Given the description of an element on the screen output the (x, y) to click on. 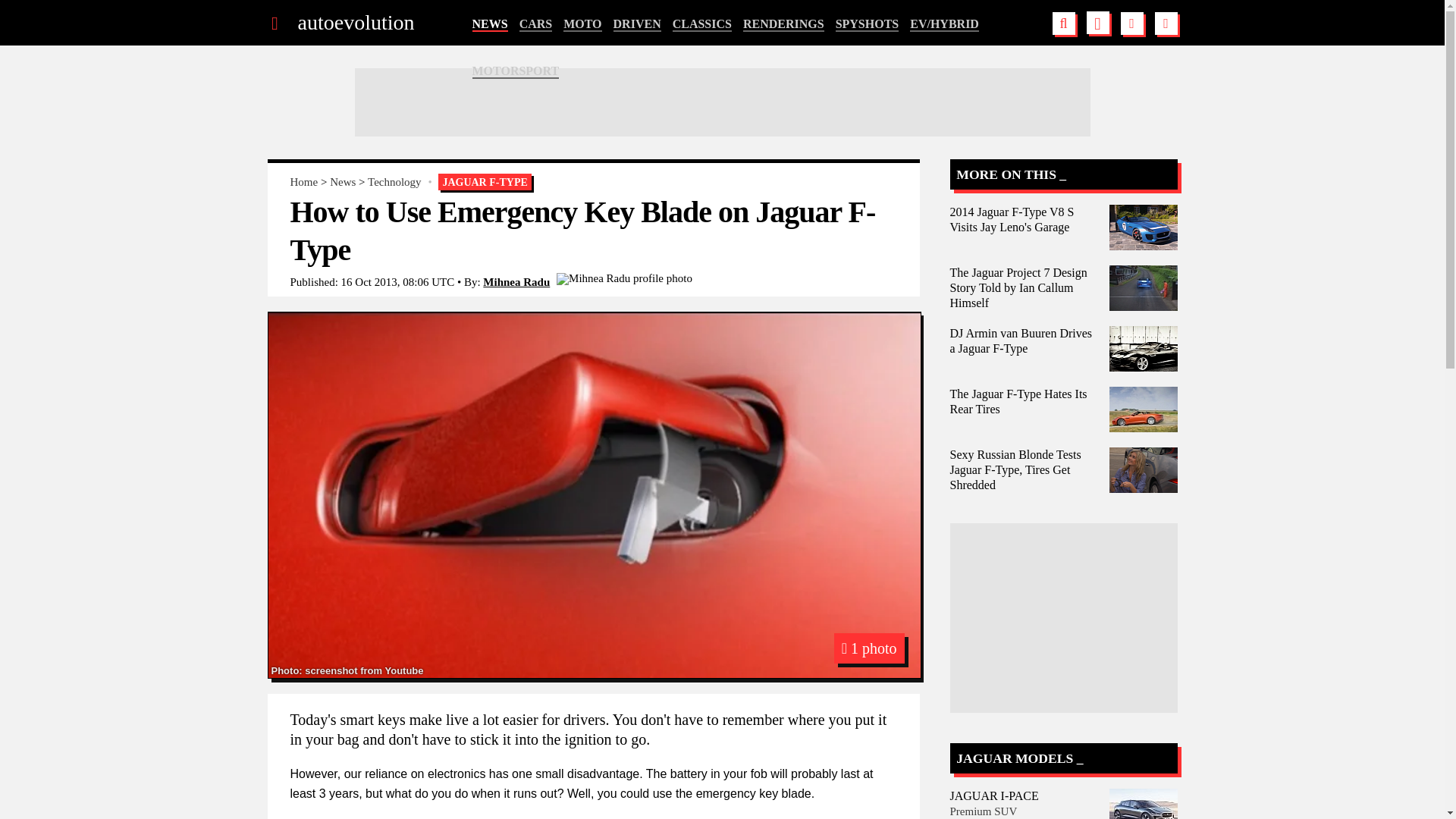
DRIVEN (636, 24)
SPYSHOTS (867, 24)
NEWS (488, 24)
CARS (536, 24)
Technology (395, 182)
Home (303, 182)
CLASSICS (702, 24)
autoevolution (355, 22)
autoevolution (355, 22)
MOTORSPORT (515, 71)
